Given the description of an element on the screen output the (x, y) to click on. 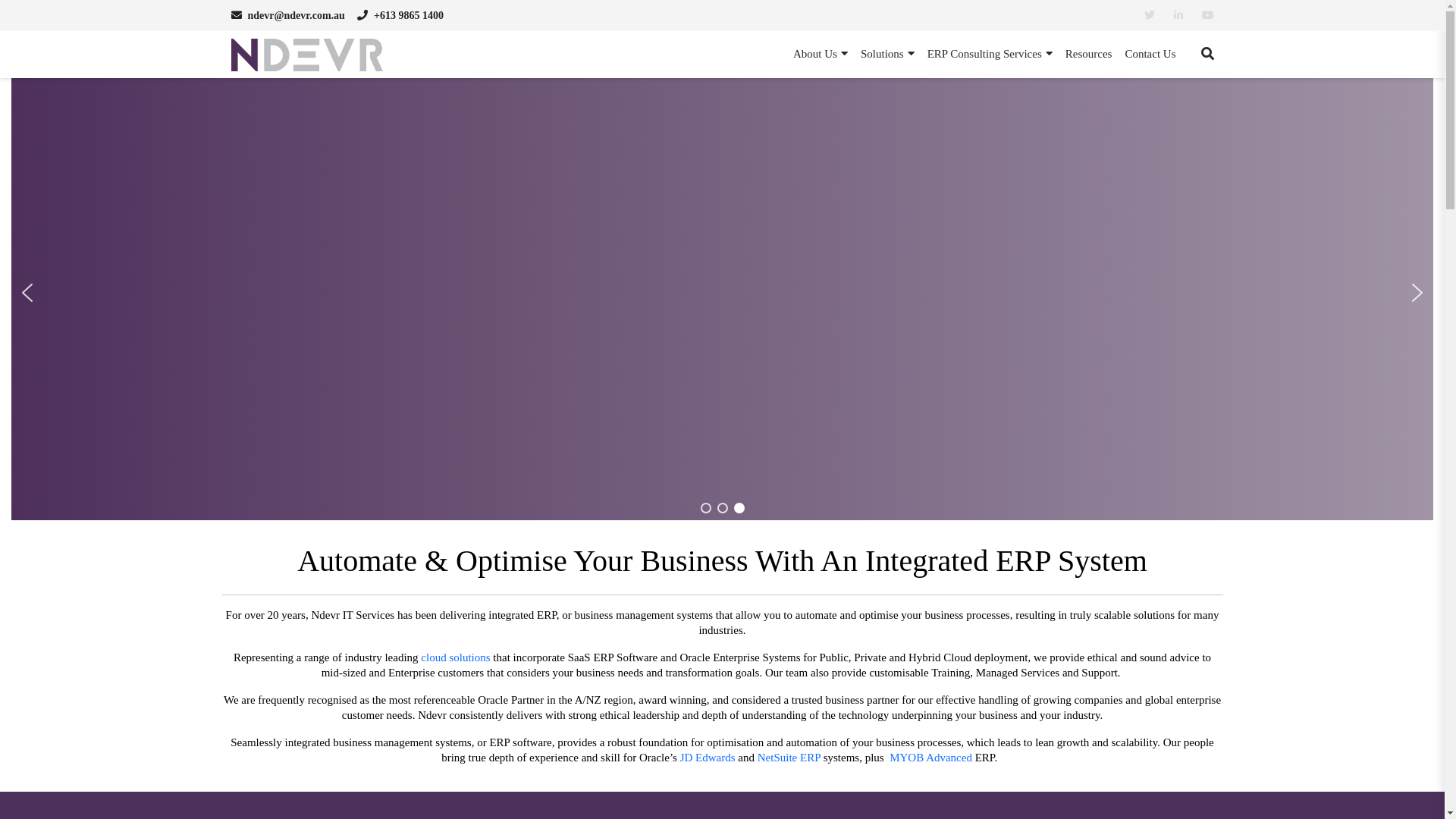
Solutions Element type: text (887, 54)
Contact Us Element type: text (1149, 54)
Get Started Element type: text (332, 357)
MYOB Advanced Element type: text (930, 757)
About Us Element type: text (820, 54)
ERP Consulting Services Element type: text (989, 54)
Resources Element type: text (1088, 54)
+613 9865 1400 Element type: text (400, 15)
JD Edwards Element type: text (707, 757)
NetSuite ERP Element type: text (788, 757)
ndevr@ndevr.com.au Element type: text (287, 15)
cloud solutions Element type: text (454, 657)
